Given the description of an element on the screen output the (x, y) to click on. 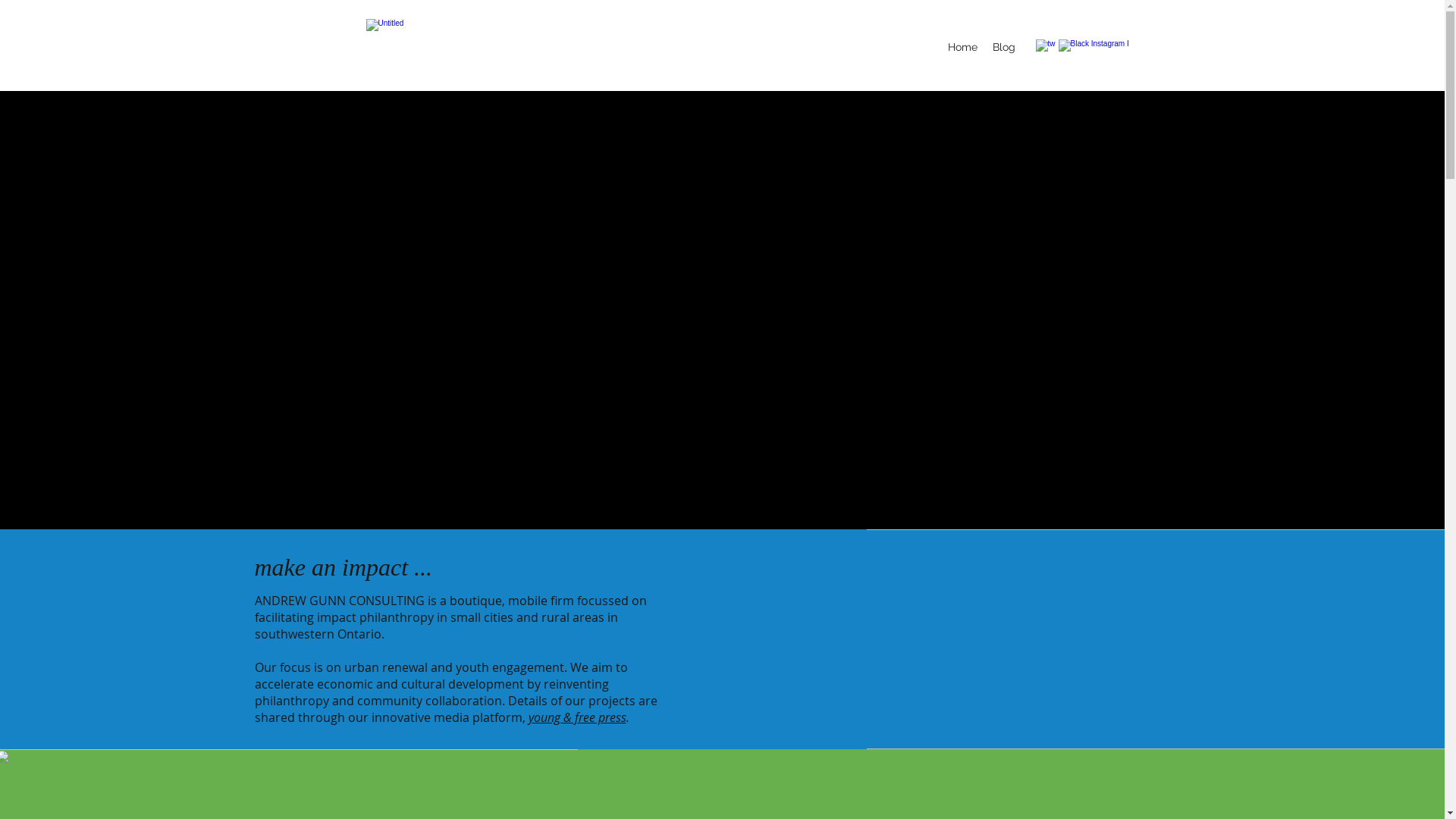
Home Element type: text (962, 46)
Blog Element type: text (1003, 46)
young & free press Element type: text (576, 717)
